Given the description of an element on the screen output the (x, y) to click on. 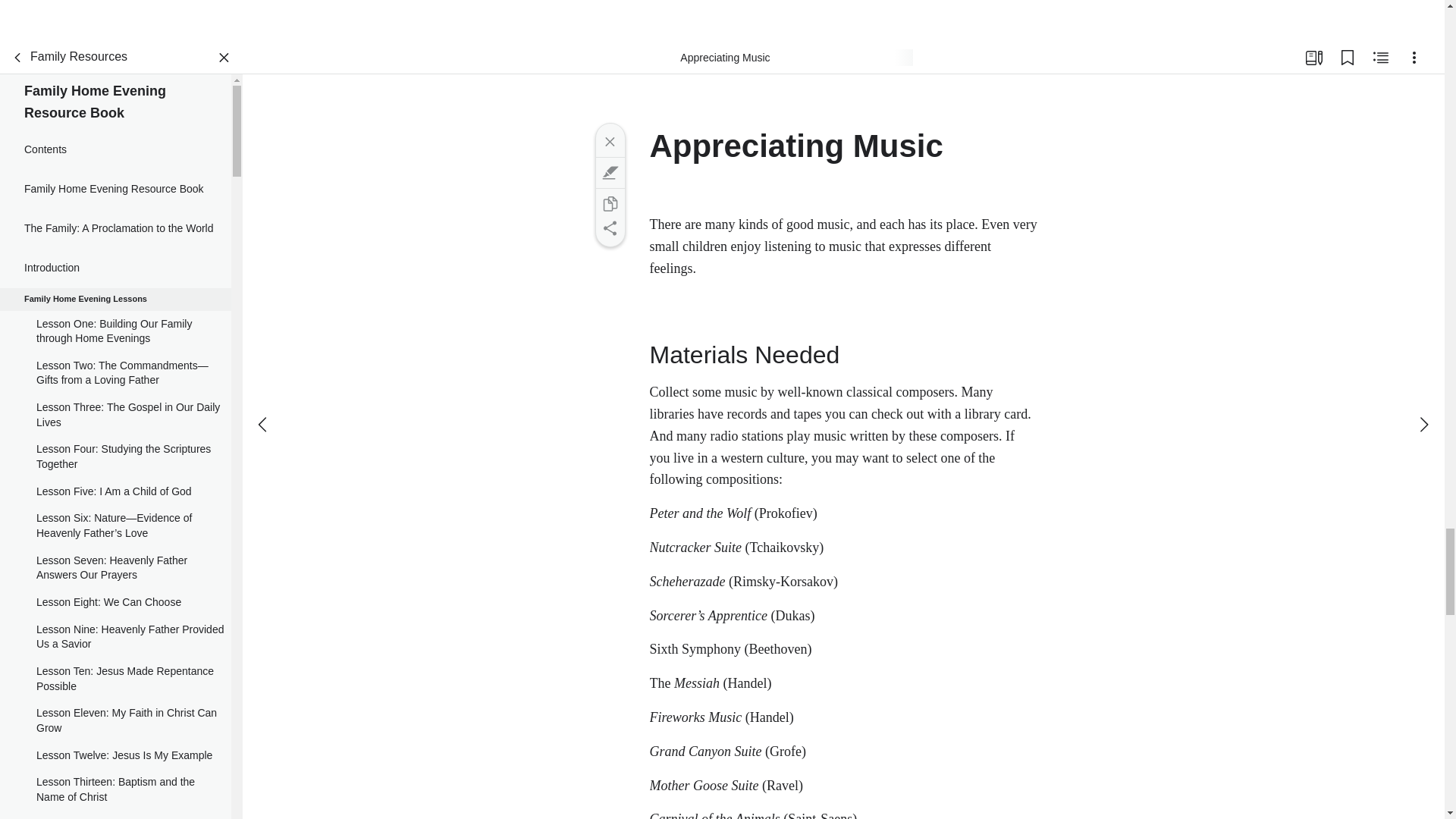
Lesson Ten: Jesus Made Repentance Possible (115, 679)
Lesson Eight: We Can Choose (115, 602)
Mark (608, 172)
Copy (608, 203)
Related Content (1380, 57)
The Family: A Proclamation to the World (115, 228)
Lesson Thirteen: Baptism and the Name of Christ (115, 789)
Family Home Evening Resource Book (115, 189)
Lesson Three: The Gospel in Our Daily Lives (115, 414)
Lesson Seven: Heavenly Father Answers Our Prayers (115, 567)
